Given the description of an element on the screen output the (x, y) to click on. 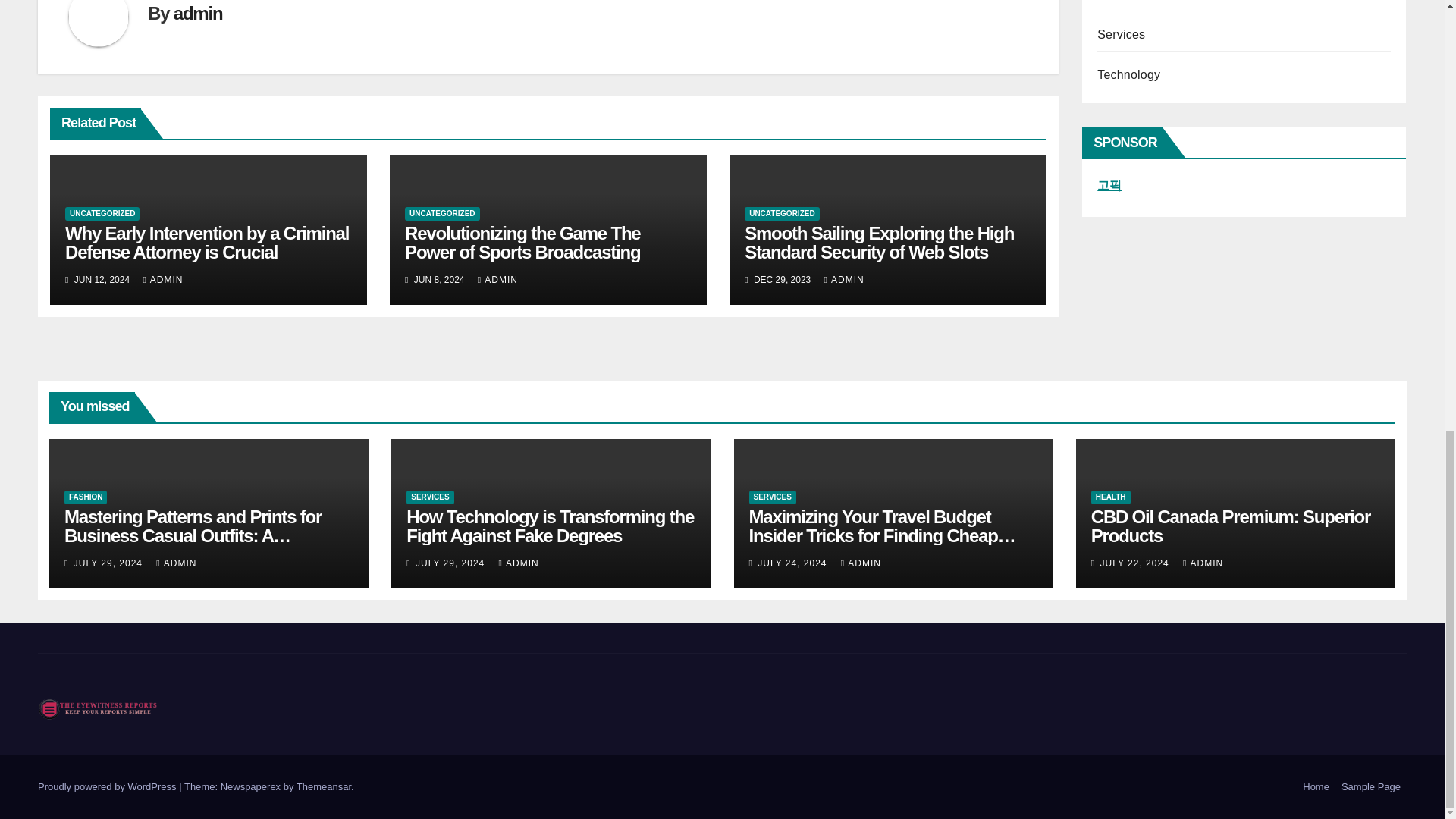
UNCATEGORIZED (102, 213)
ADMIN (162, 279)
admin (197, 13)
